Given the description of an element on the screen output the (x, y) to click on. 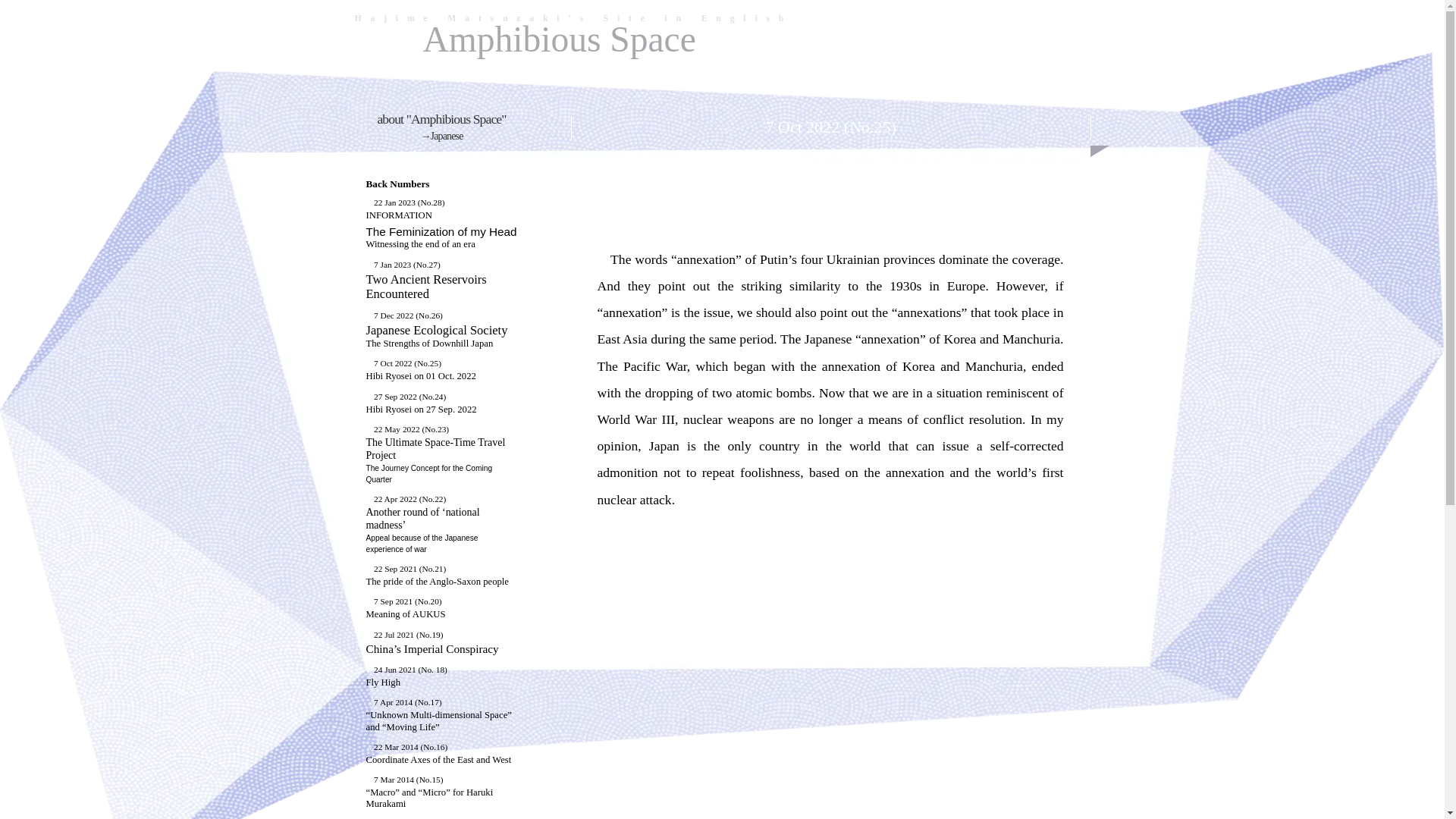
Amphibious Space (435, 336)
Hibi Ryosei on 27 Sep. 2022 (559, 38)
Amphibious Space (440, 238)
INFORMATION (420, 409)
Hibi Ryosei on 01 Oct. 2022 (559, 38)
Two Ancient Reservoirs Encountered (397, 214)
about "Amphibious Space" (420, 376)
